Given the description of an element on the screen output the (x, y) to click on. 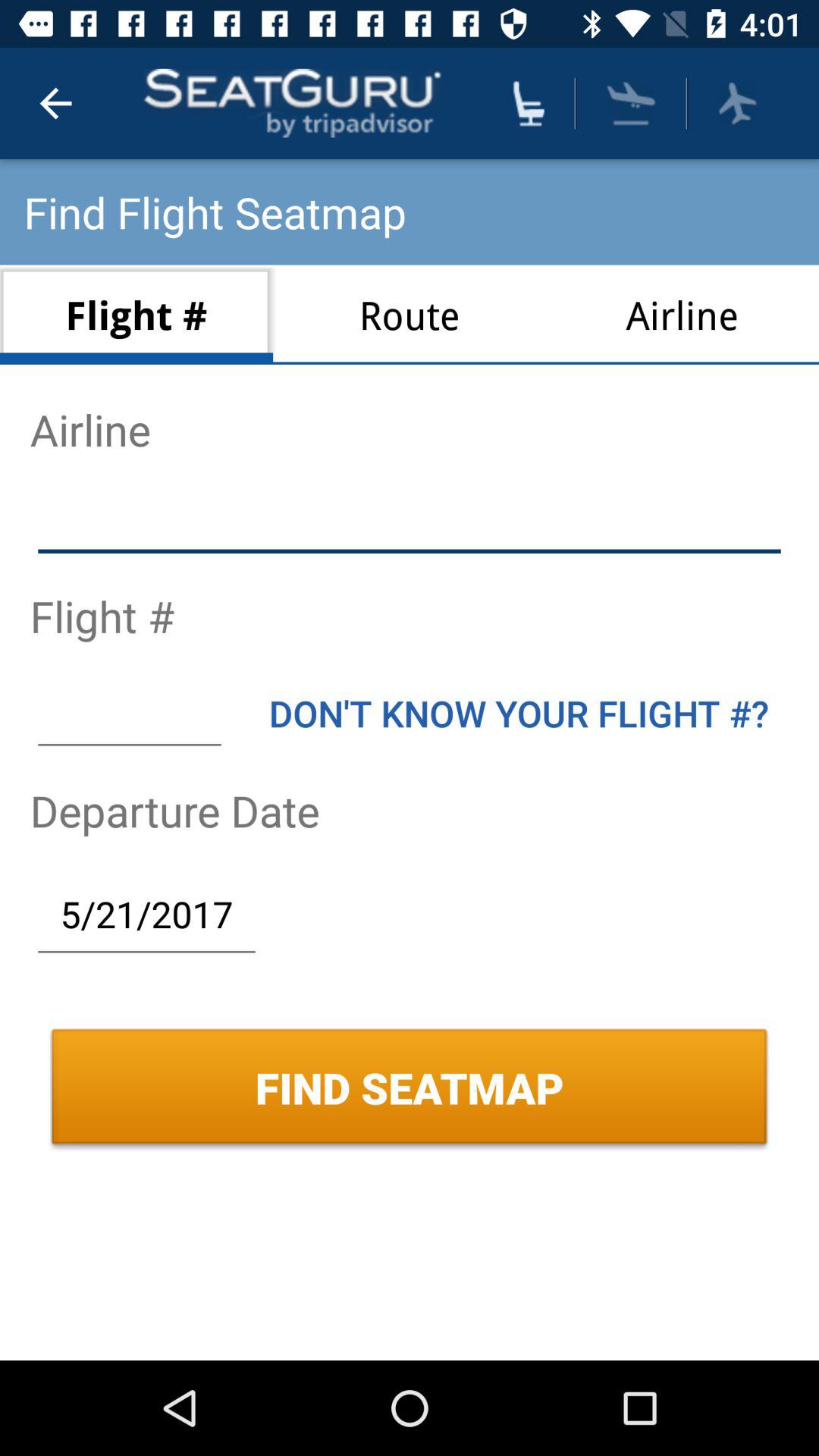
open the icon next to the flight # icon (409, 314)
